Given the description of an element on the screen output the (x, y) to click on. 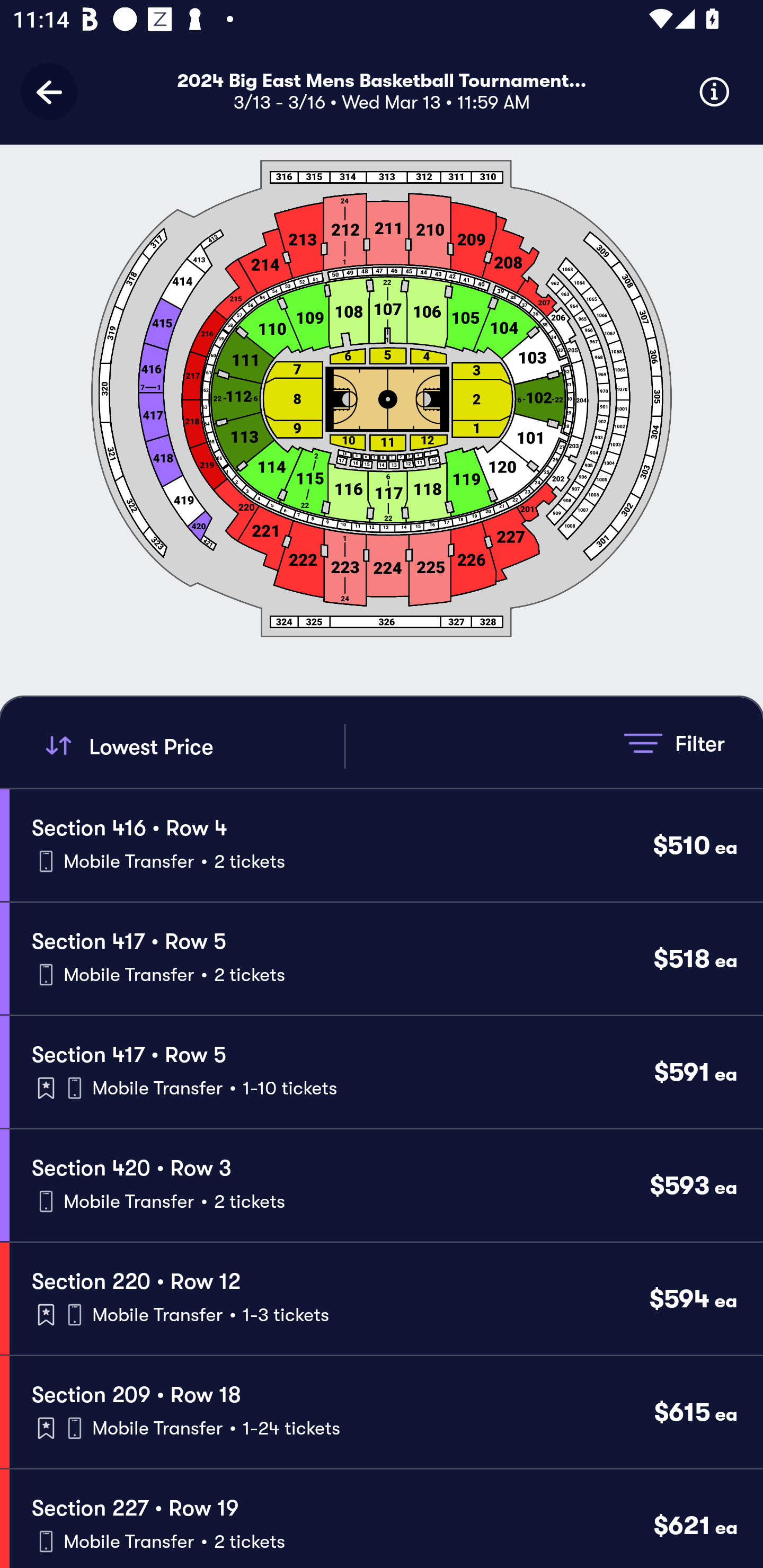
Lowest Price (191, 746)
Filter (674, 743)
